Given the description of an element on the screen output the (x, y) to click on. 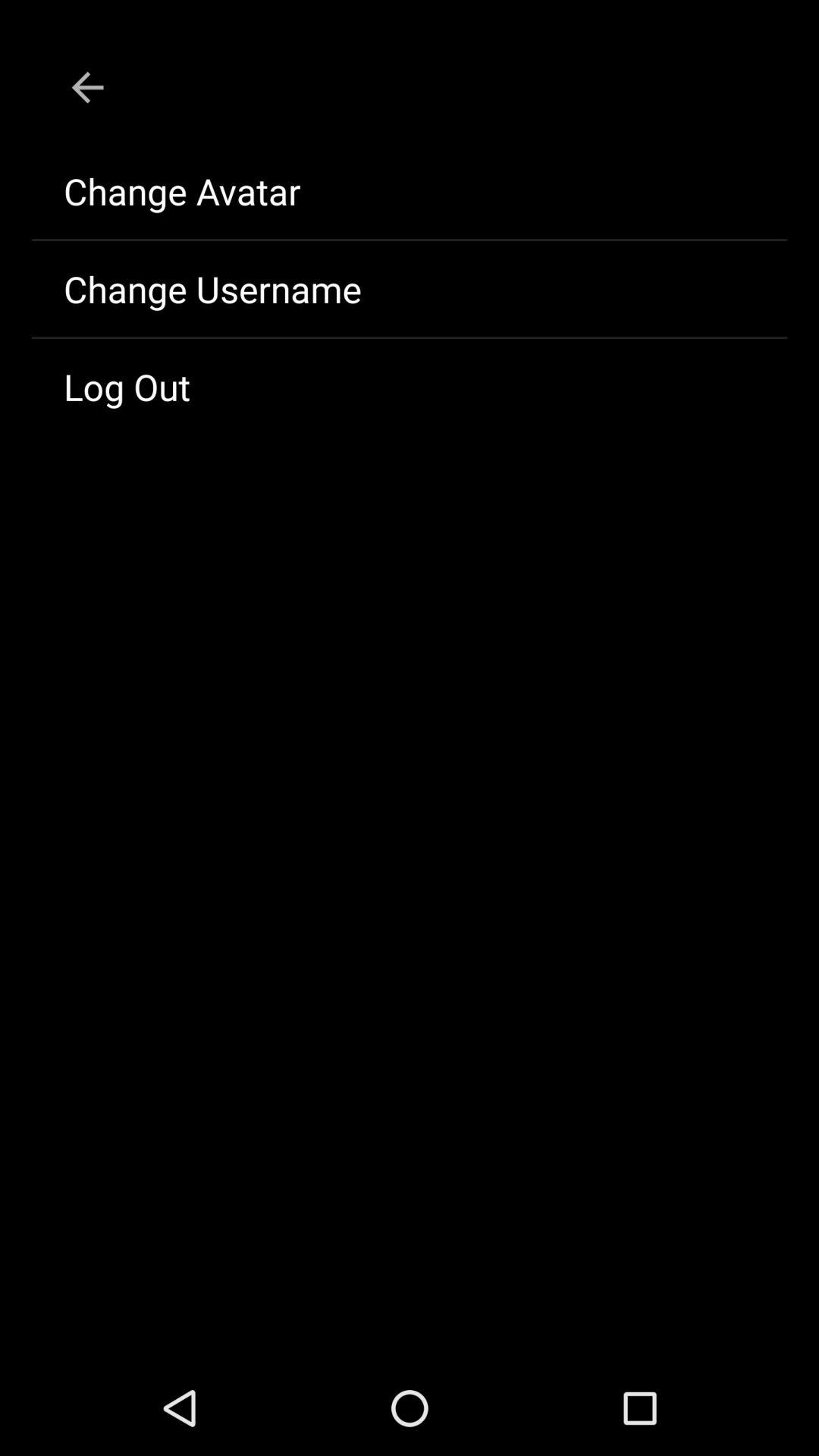
turn off the item above change username icon (409, 190)
